Given the description of an element on the screen output the (x, y) to click on. 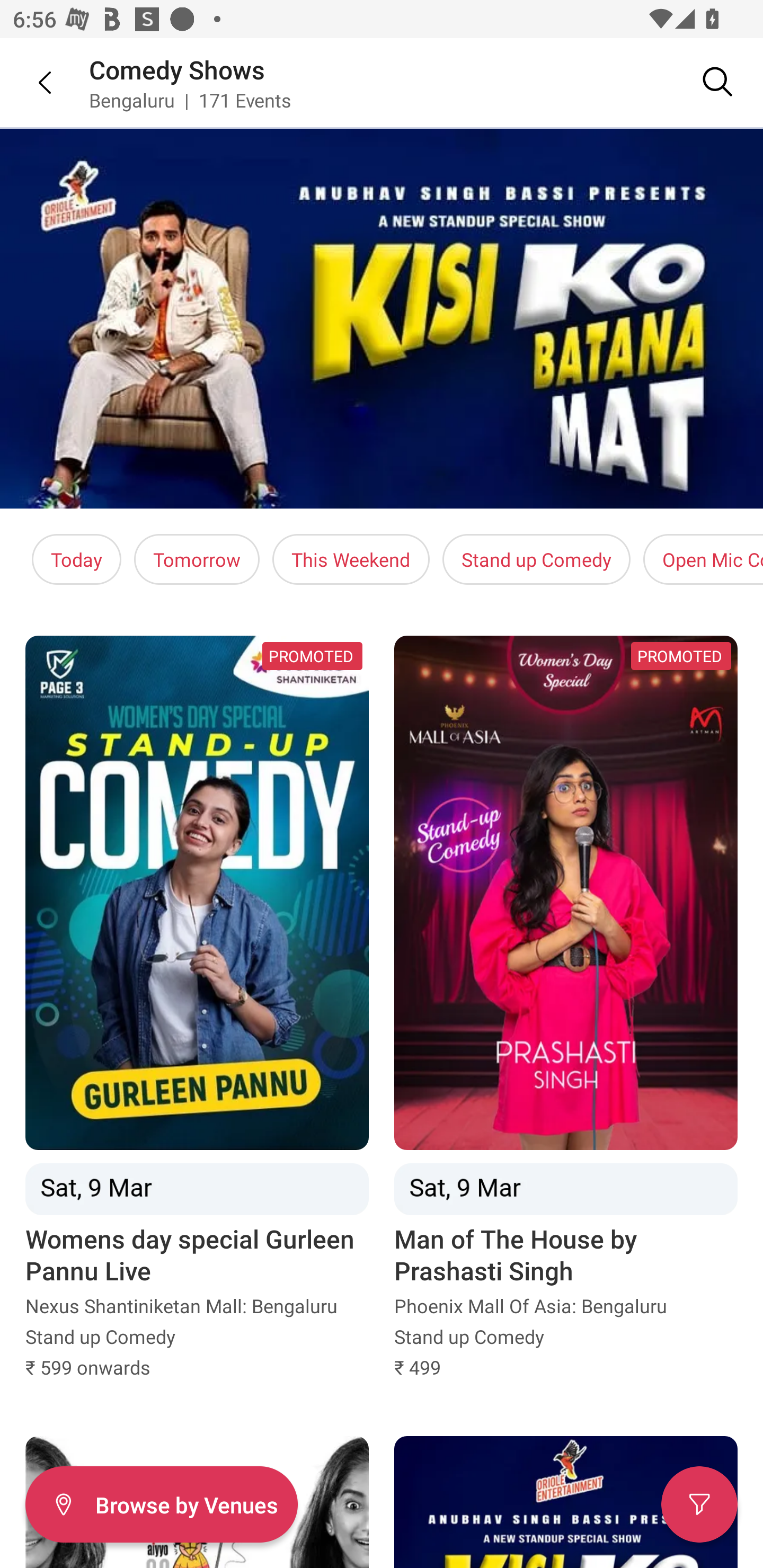
Back (31, 82)
Comedy Shows (176, 68)
Bengaluru  |  171 Events (190, 99)
Today (76, 559)
Tomorrow (196, 559)
This Weekend (350, 559)
Stand up Comedy (536, 559)
Filter Browse by Venues (161, 1504)
Filter (699, 1504)
